Given the description of an element on the screen output the (x, y) to click on. 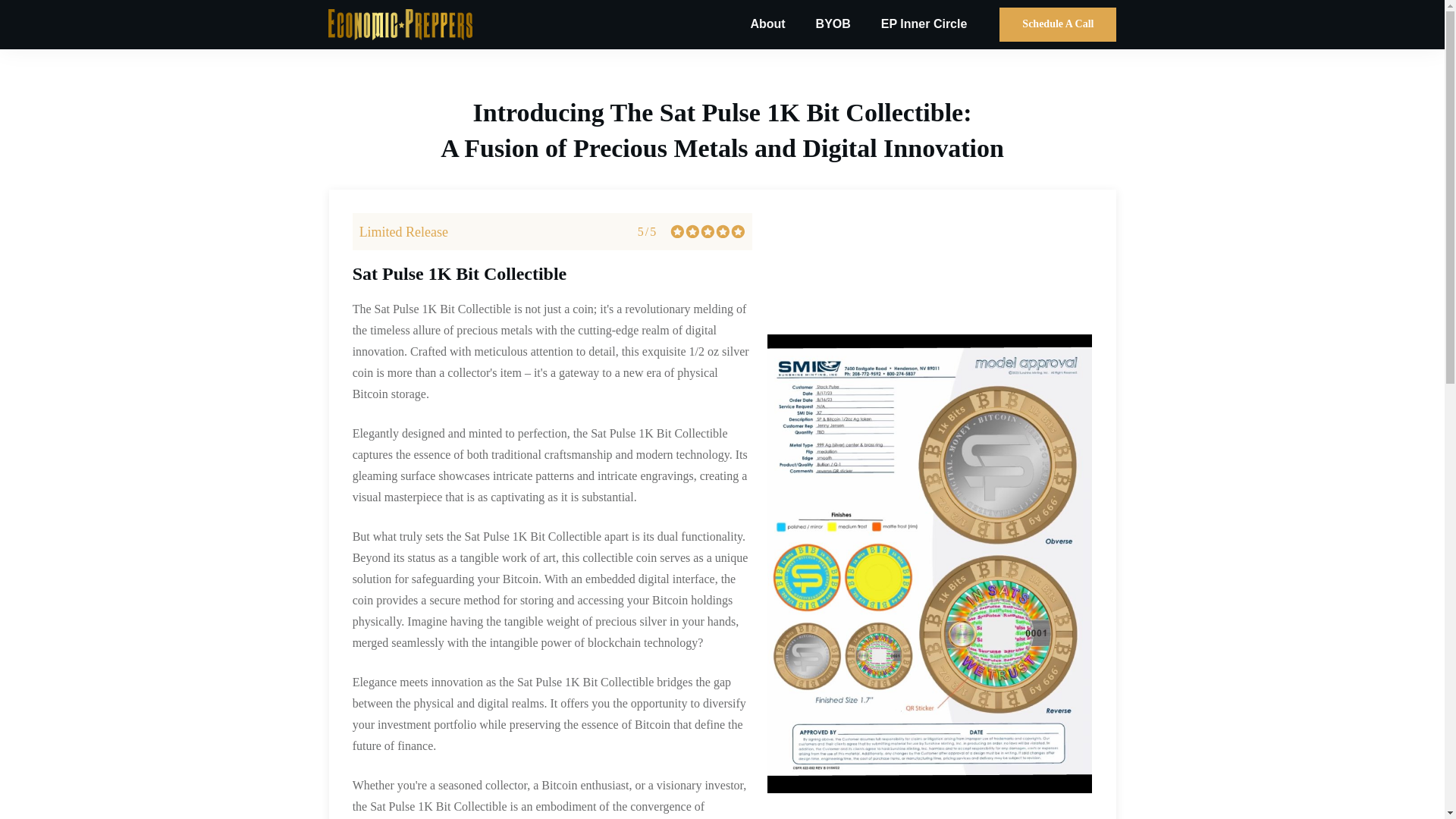
BYOB (832, 24)
EP Inner Circle (924, 24)
About (766, 24)
Schedule A Call (1057, 24)
